Given the description of an element on the screen output the (x, y) to click on. 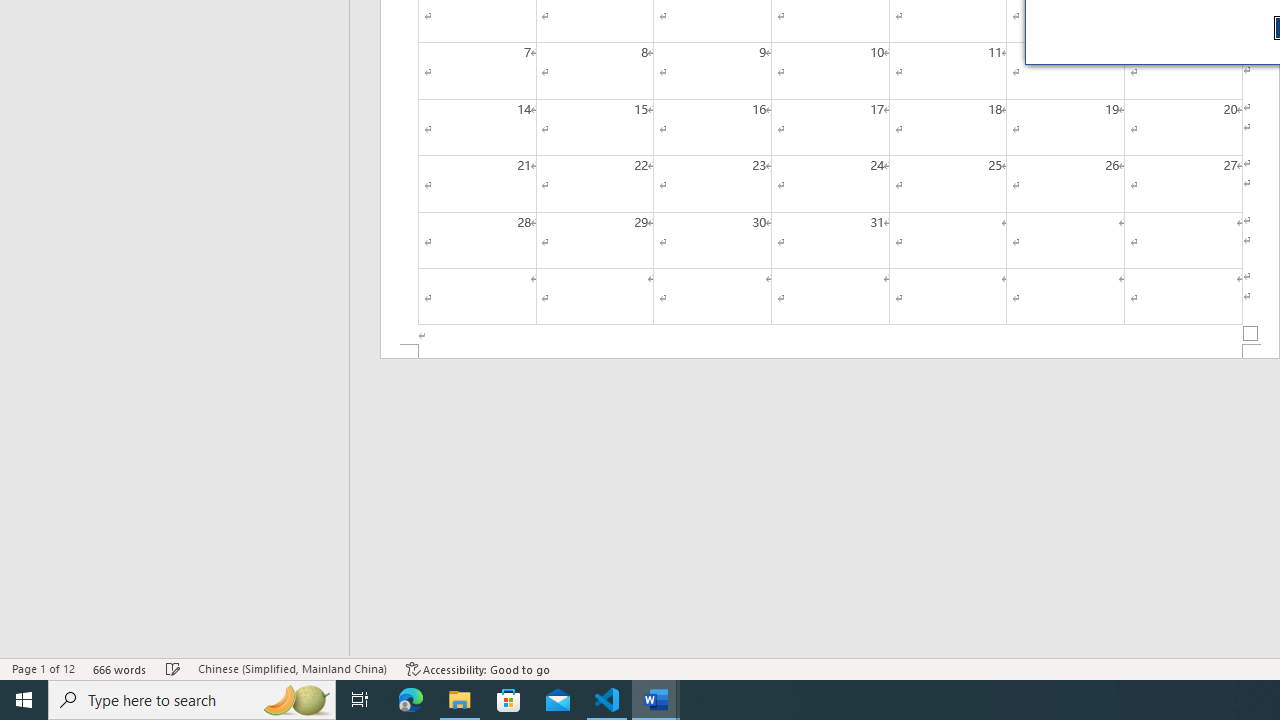
Word Count 666 words (119, 668)
Start (24, 699)
Spelling and Grammar Check Checking (173, 668)
Search highlights icon opens search home window (295, 699)
Language Chinese (Simplified, Mainland China) (292, 668)
Page Number Page 1 of 12 (43, 668)
Visual Studio Code - 1 running window (607, 699)
Microsoft Edge (411, 699)
Word - 2 running windows (656, 699)
Type here to search (191, 699)
Task View (359, 699)
Accessibility Checker Accessibility: Good to go (478, 668)
File Explorer - 1 running window (460, 699)
